Given the description of an element on the screen output the (x, y) to click on. 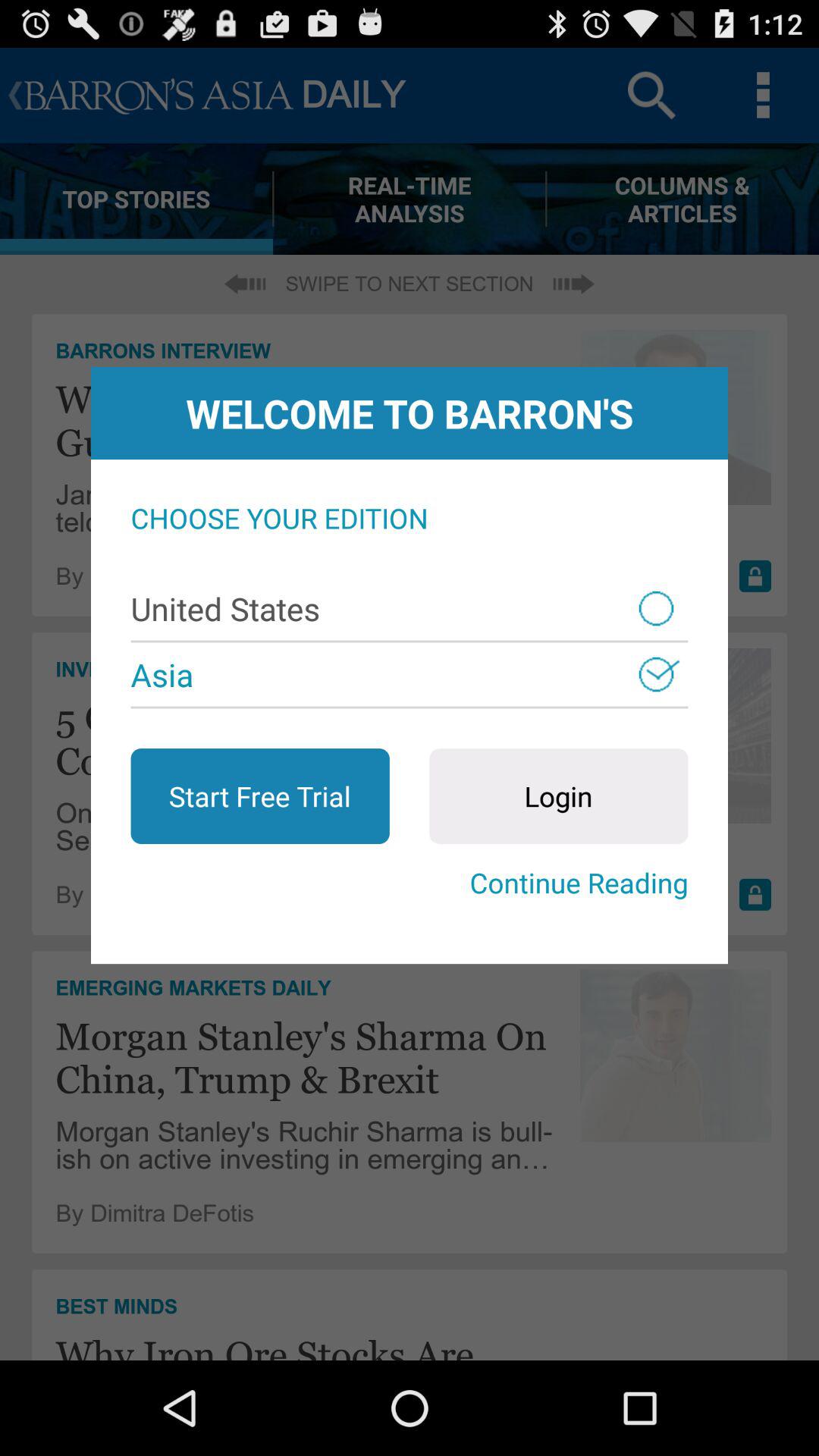
press the item to the left of the login button (259, 796)
